Given the description of an element on the screen output the (x, y) to click on. 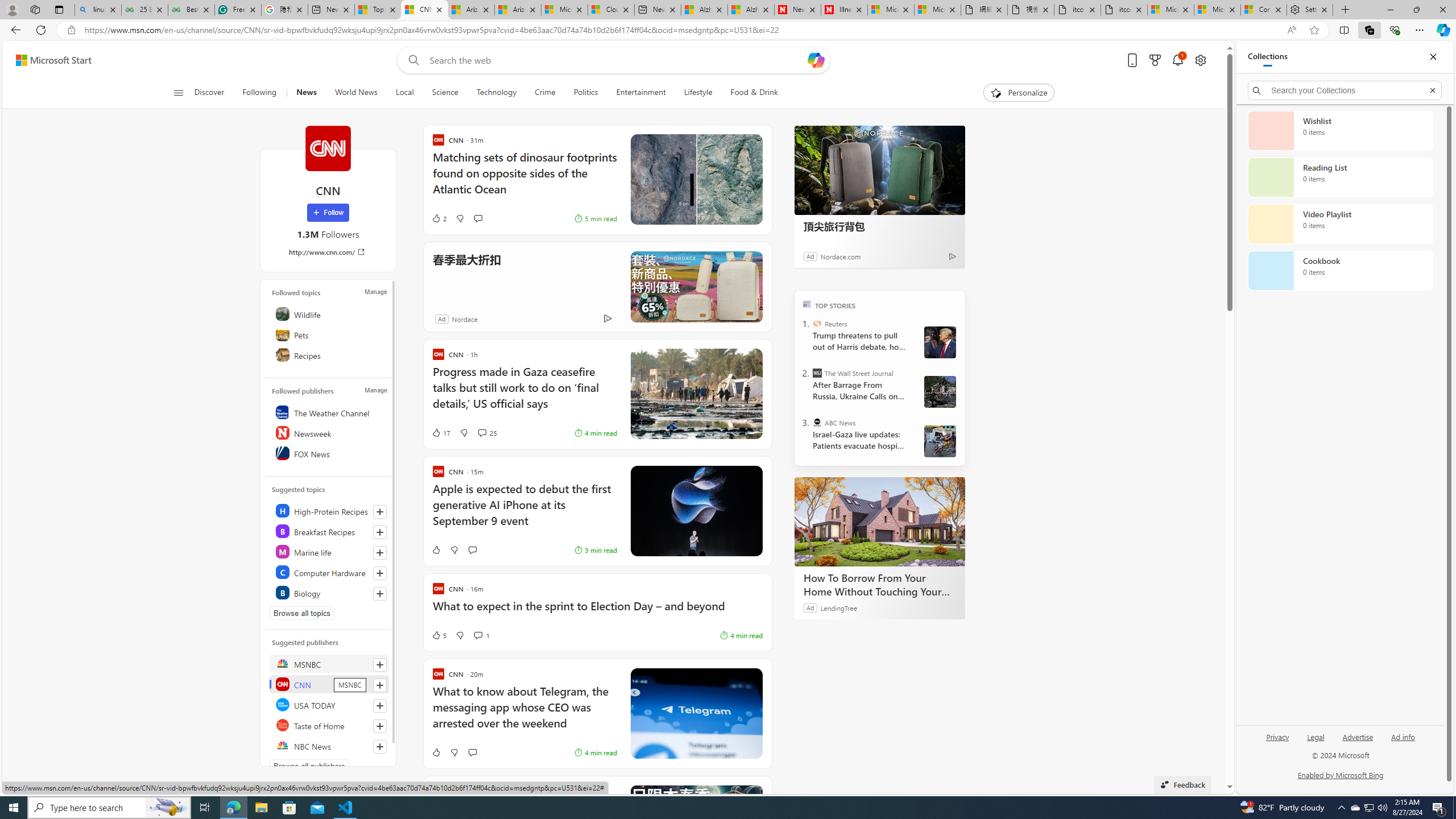
Nordace.com (839, 256)
http://www.cnn.com/ (327, 251)
Video Playlist collection, 0 items (1339, 223)
Search your Collections (1345, 90)
